Given the description of an element on the screen output the (x, y) to click on. 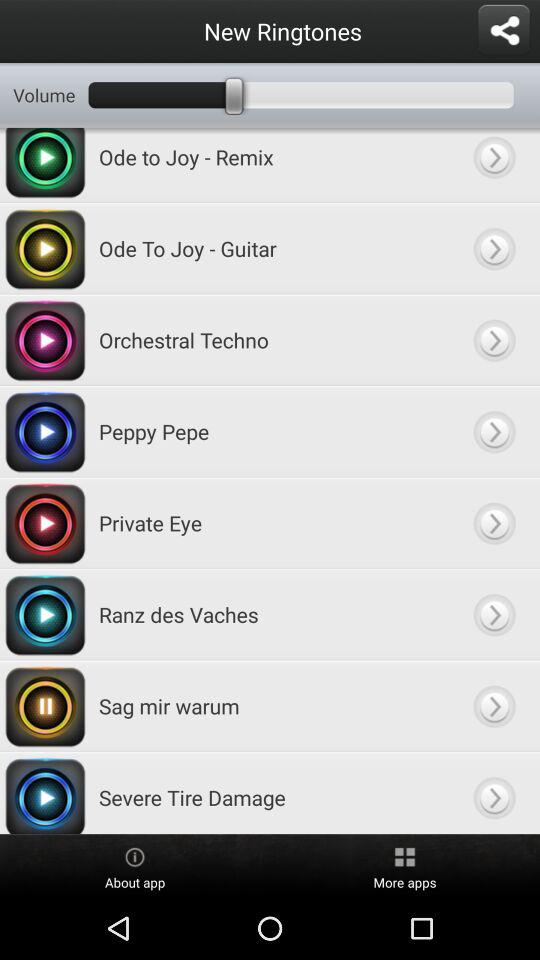
edit (494, 339)
